Given the description of an element on the screen output the (x, y) to click on. 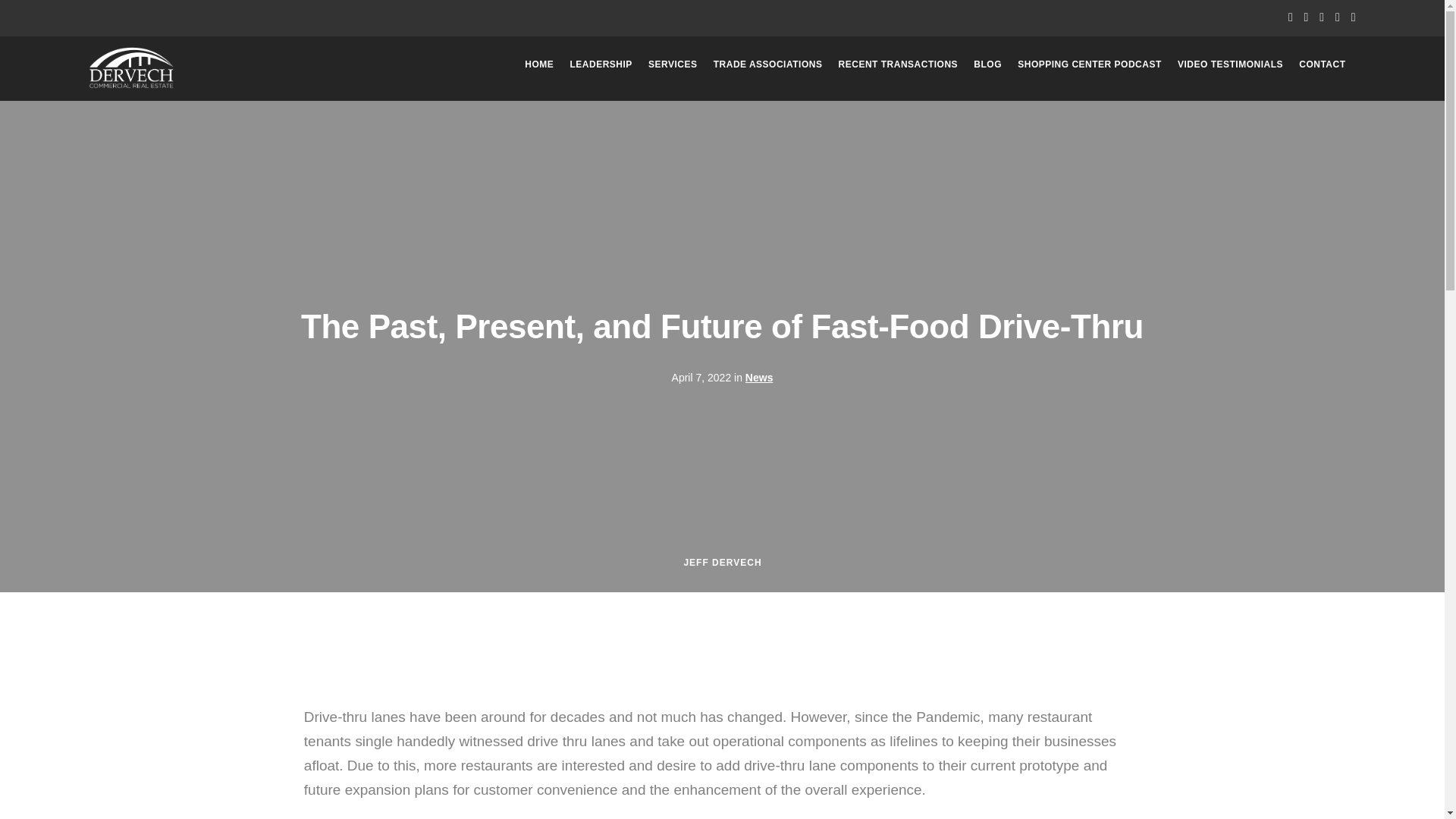
HOME (538, 63)
CONTACT (1321, 63)
BLOG (987, 63)
TRADE ASSOCIATIONS (767, 63)
SERVICES (672, 63)
SHOPPING CENTER PODCAST (1089, 63)
RECENT TRANSACTIONS (898, 63)
News (759, 377)
VIDEO TESTIMONIALS (1229, 63)
LEADERSHIP (600, 63)
